Given the description of an element on the screen output the (x, y) to click on. 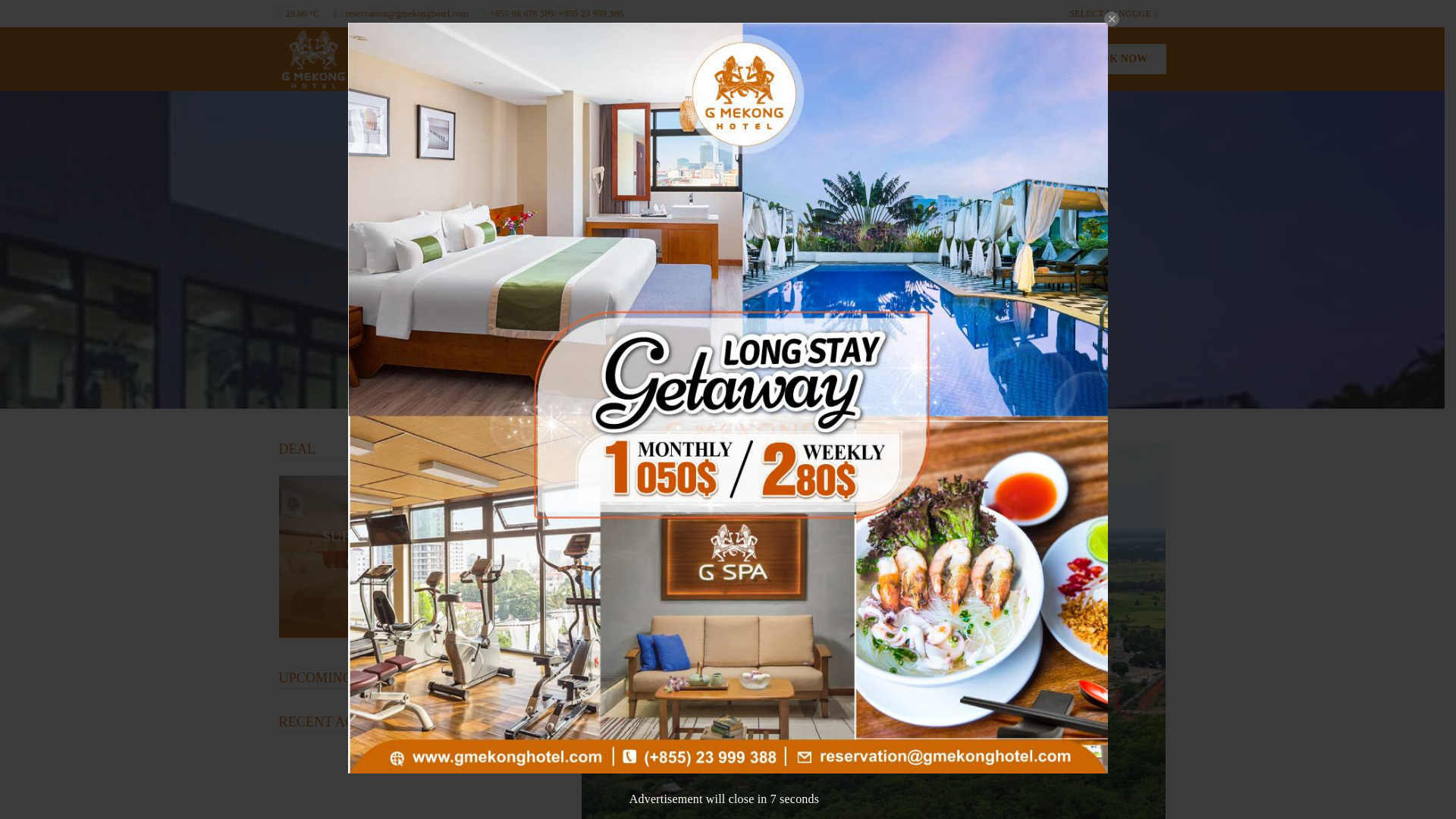
Phnom Penh (299, 13)
DESTINATIONS (940, 58)
READ MORE (391, 601)
FACILITIES (713, 58)
SPECIAL OFFERS (839, 58)
BOOK NOW (1116, 59)
CONTACT (1018, 58)
